Given the description of an element on the screen output the (x, y) to click on. 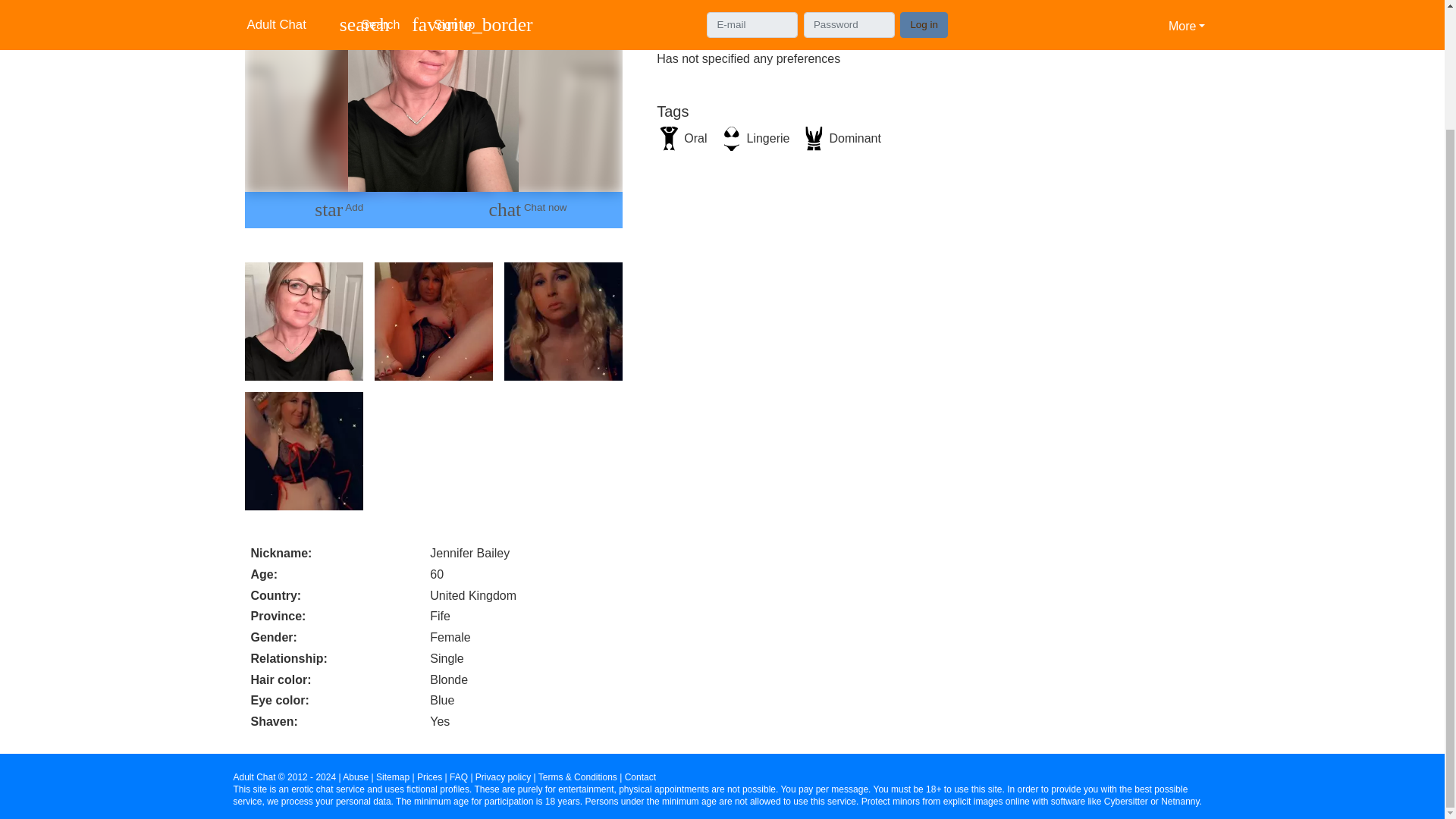
Contact (640, 777)
Privacy policy (503, 777)
chat Chat now (528, 209)
Abuse (355, 777)
FAQ (458, 777)
Prices (429, 777)
star Add (338, 209)
Sitemap (392, 777)
